Given the description of an element on the screen output the (x, y) to click on. 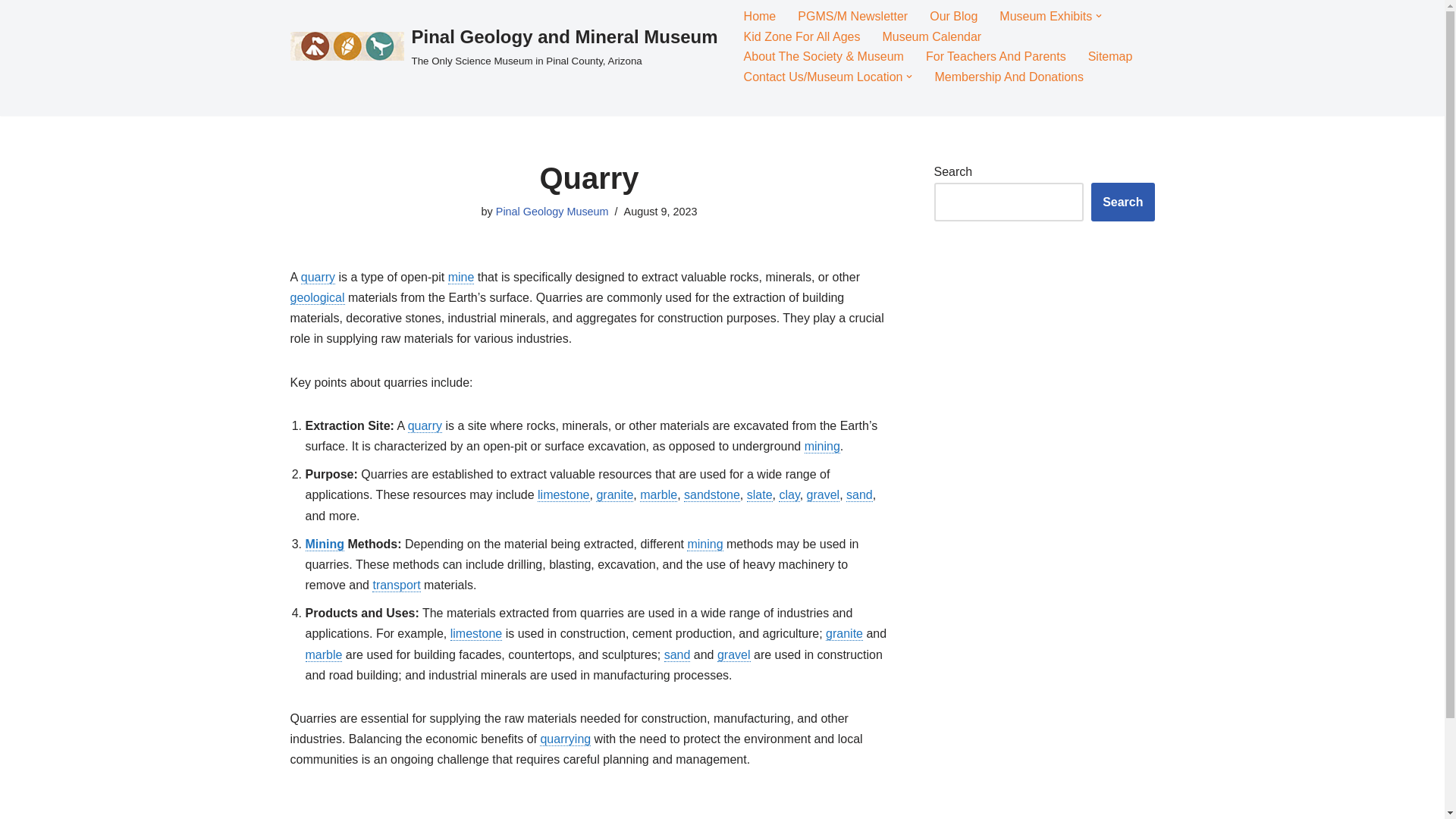
Pinal Geology Museum (552, 211)
Home (760, 15)
Skip to content (11, 31)
Museum Exhibits (1045, 15)
For Teachers And Parents (995, 55)
Sitemap (1109, 55)
Membership And Donations (1008, 76)
Kid Zone For All Ages (802, 36)
Our Blog (953, 15)
Posts by Pinal Geology Museum (552, 211)
Museum Calendar (931, 36)
